Given the description of an element on the screen output the (x, y) to click on. 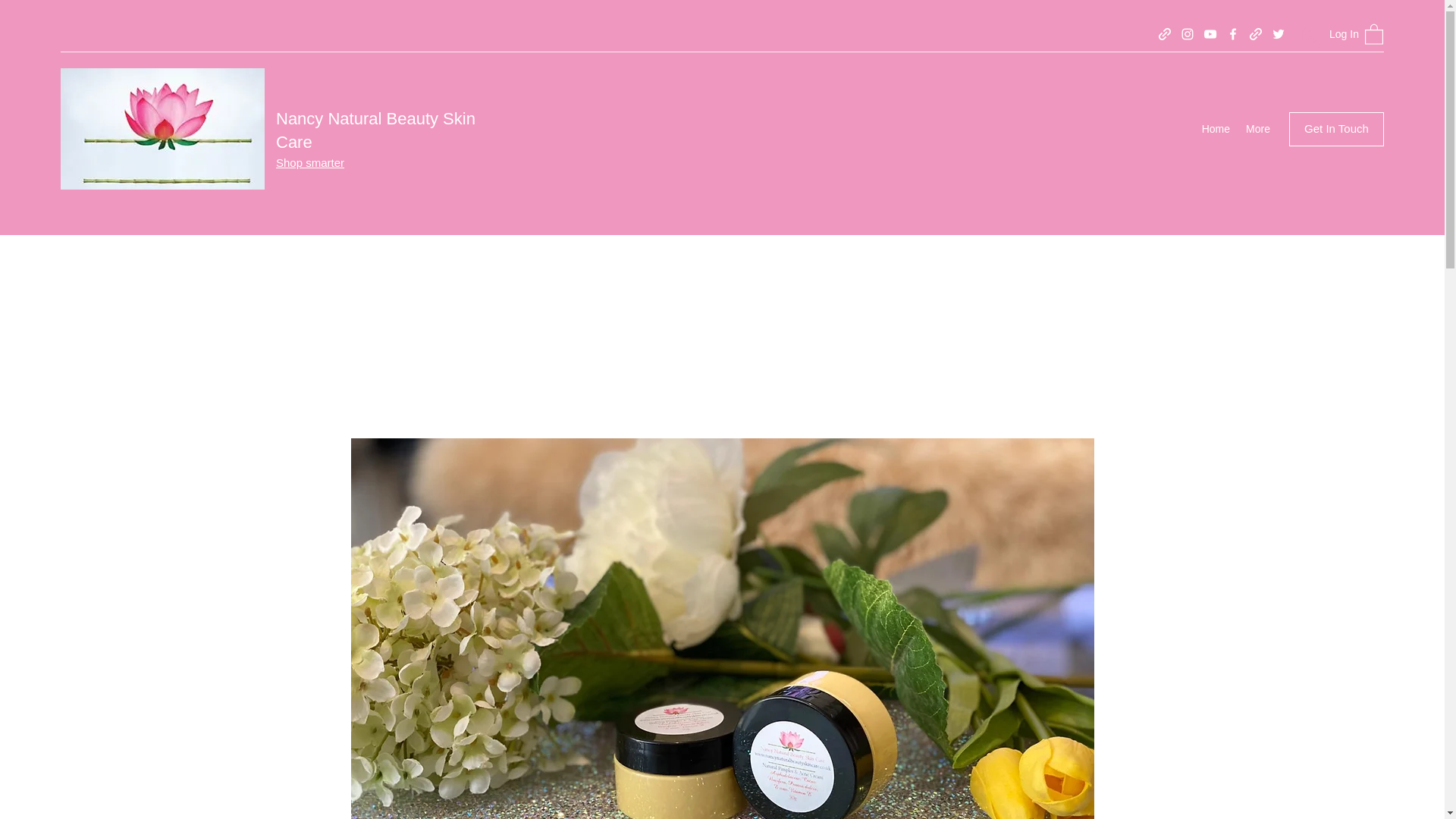
Get In Touch (1336, 129)
Log In (1325, 34)
Home (1215, 128)
Nancy Natural Beauty Skin Care (376, 129)
Shop smarter (309, 162)
